Given the description of an element on the screen output the (x, y) to click on. 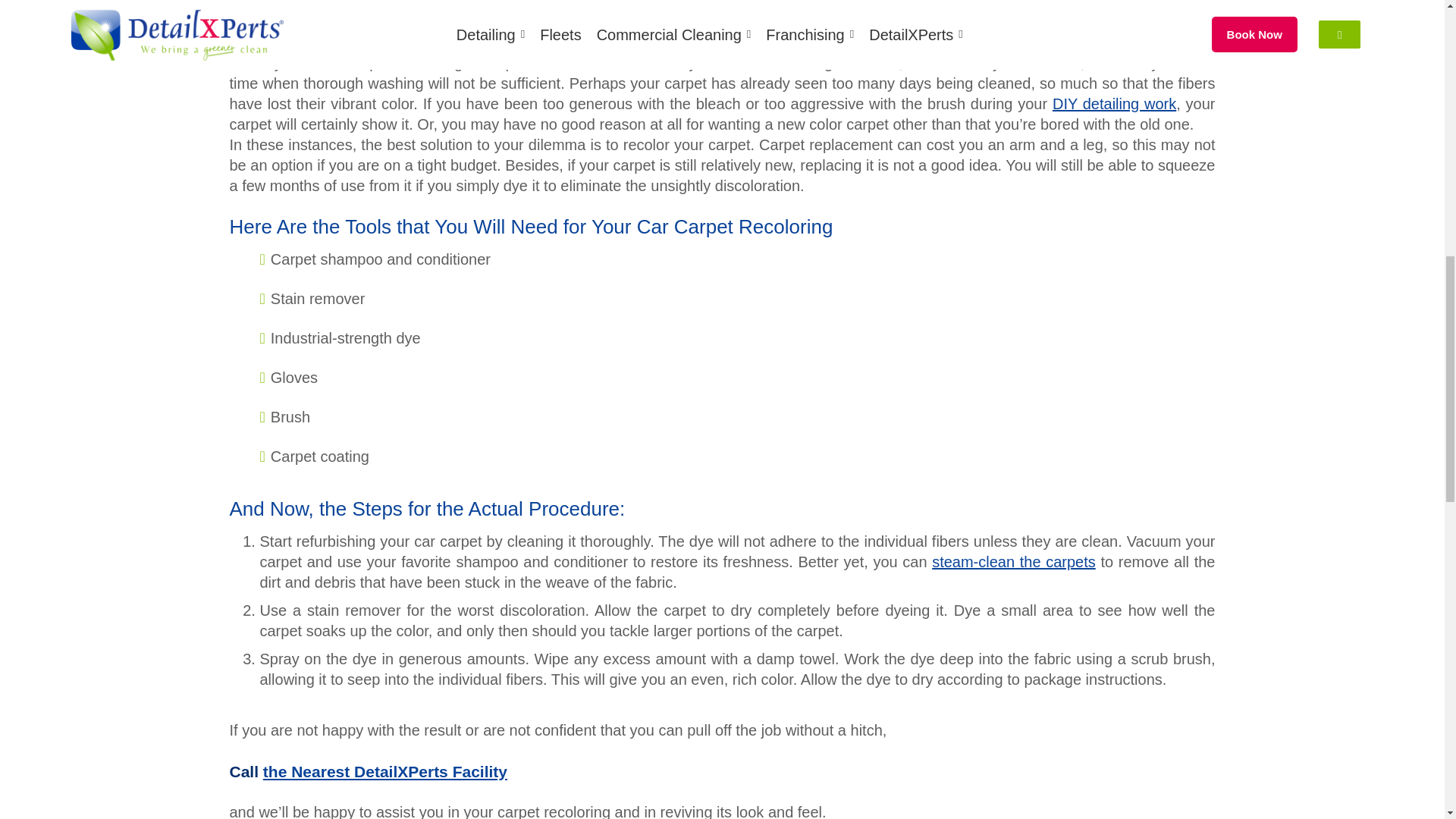
steam-clean the carpets (1013, 561)
the nearest DetailXPerts facility (384, 771)
DIY detailing work (1114, 103)
